Given the description of an element on the screen output the (x, y) to click on. 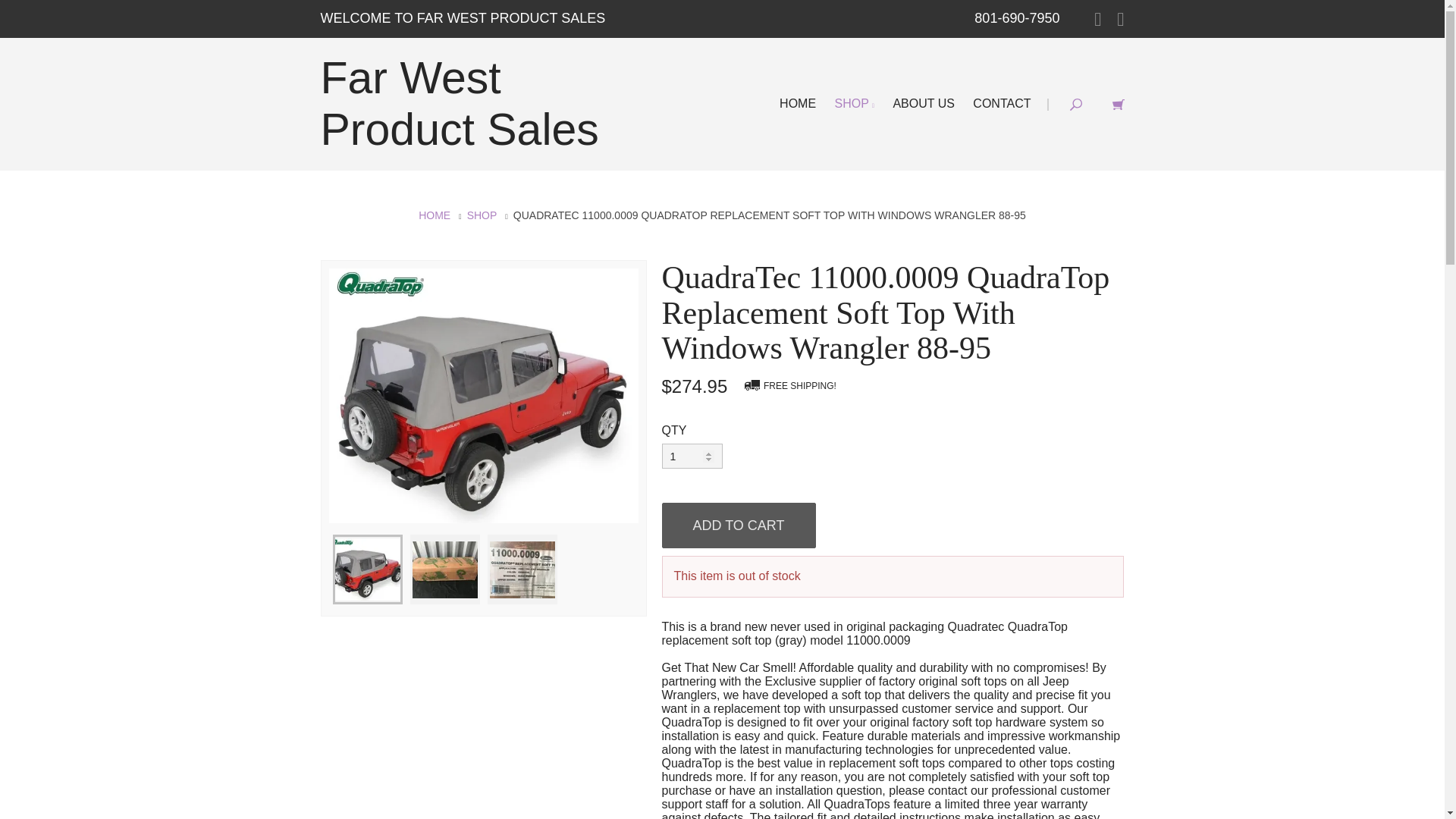
WELCOME TO FAR WEST PRODUCT SALES (462, 17)
Far West Product Sales (459, 103)
1 (691, 455)
Add to Cart (738, 524)
HOME (797, 103)
SHOP (854, 103)
